Given the description of an element on the screen output the (x, y) to click on. 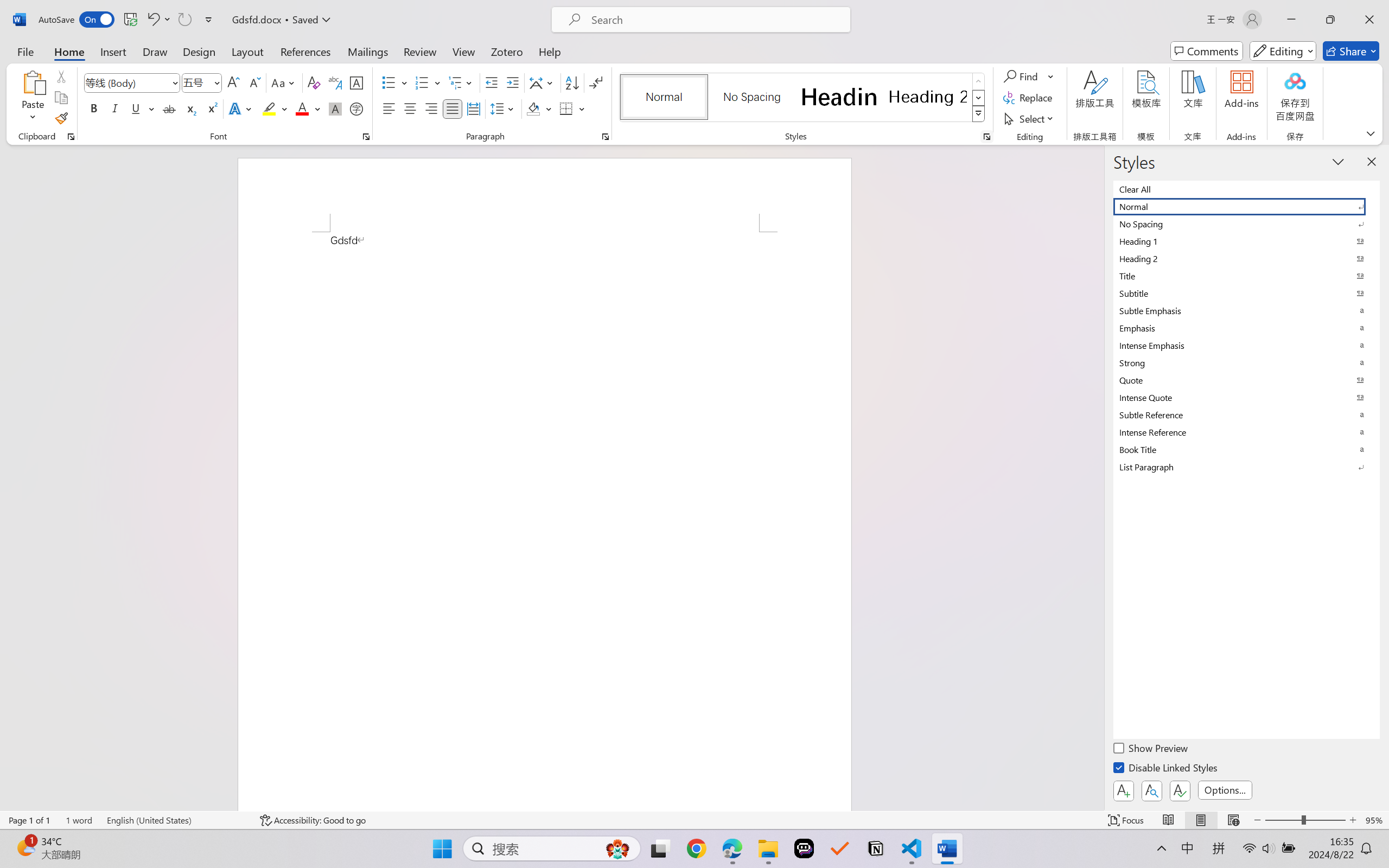
Replace... (1029, 97)
Distributed (473, 108)
Shading RGB(0, 0, 0) (533, 108)
Character Shading (334, 108)
Emphasis (1246, 327)
